Given the description of an element on the screen output the (x, y) to click on. 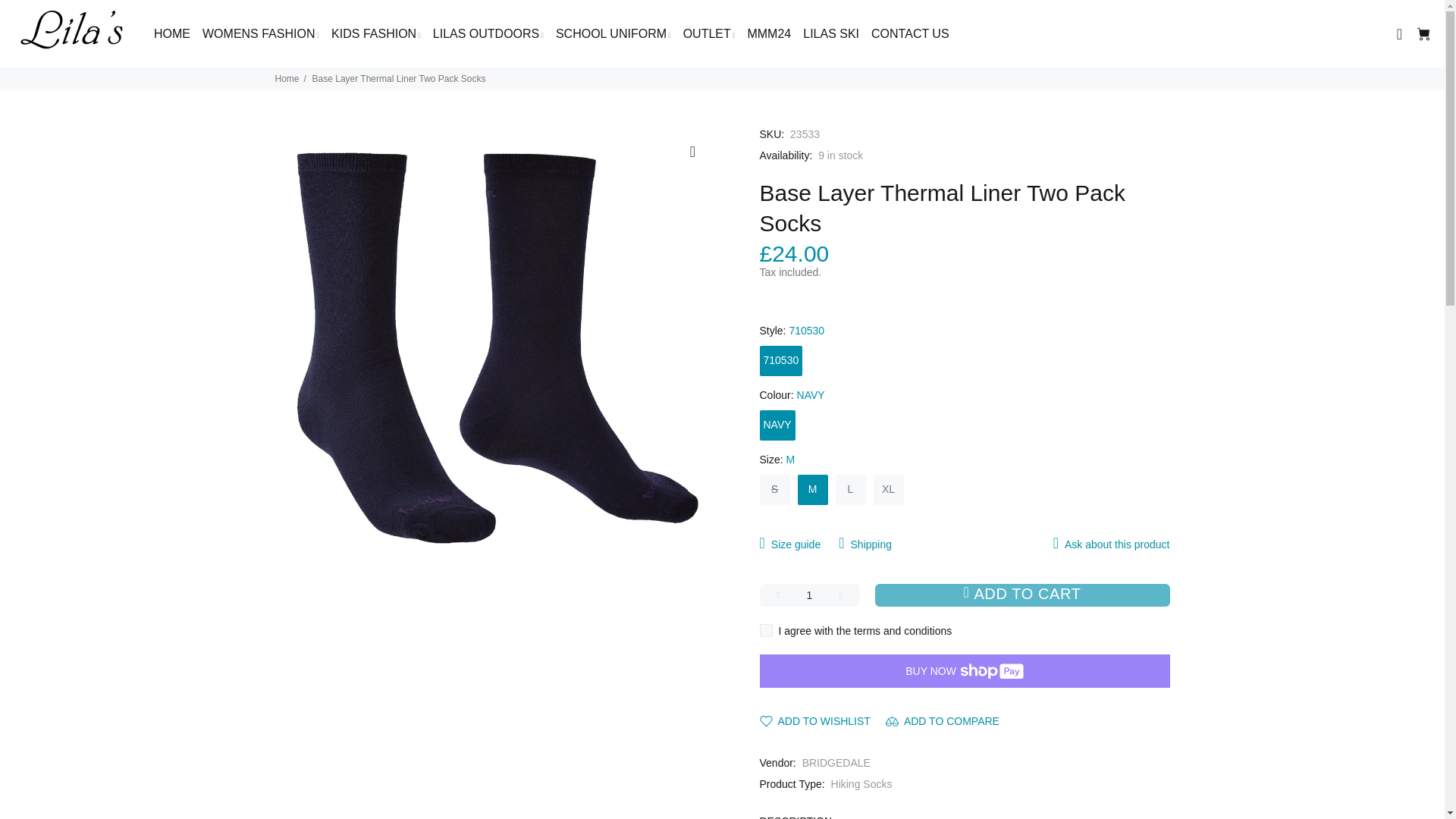
1 (810, 594)
